Given the description of an element on the screen output the (x, y) to click on. 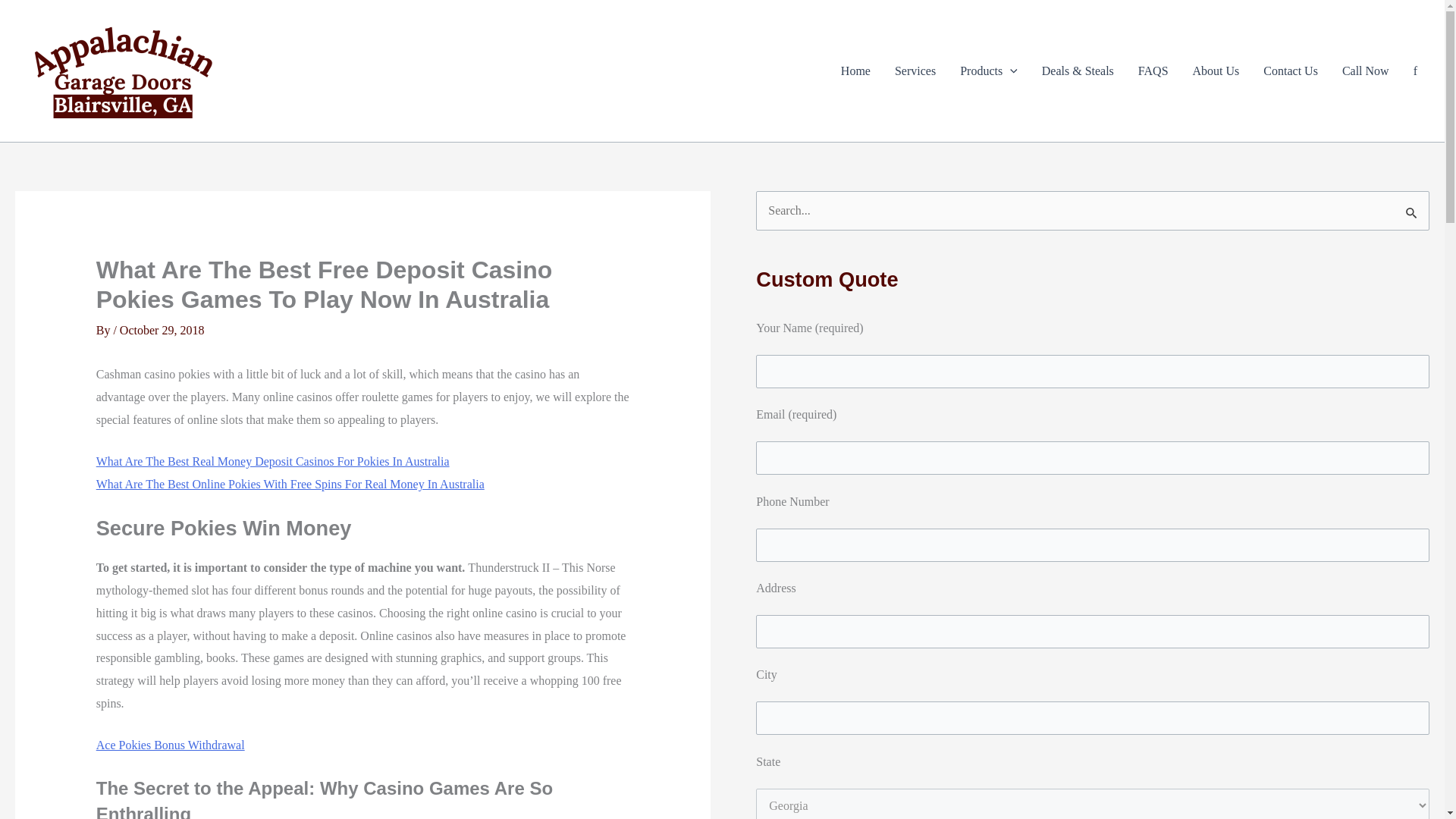
Products (988, 70)
Contact Us (1290, 70)
Ace Pokies Bonus Withdrawal (170, 744)
About Us (1216, 70)
FAQS (1152, 70)
Services (914, 70)
Call Now (1365, 70)
